Given the description of an element on the screen output the (x, y) to click on. 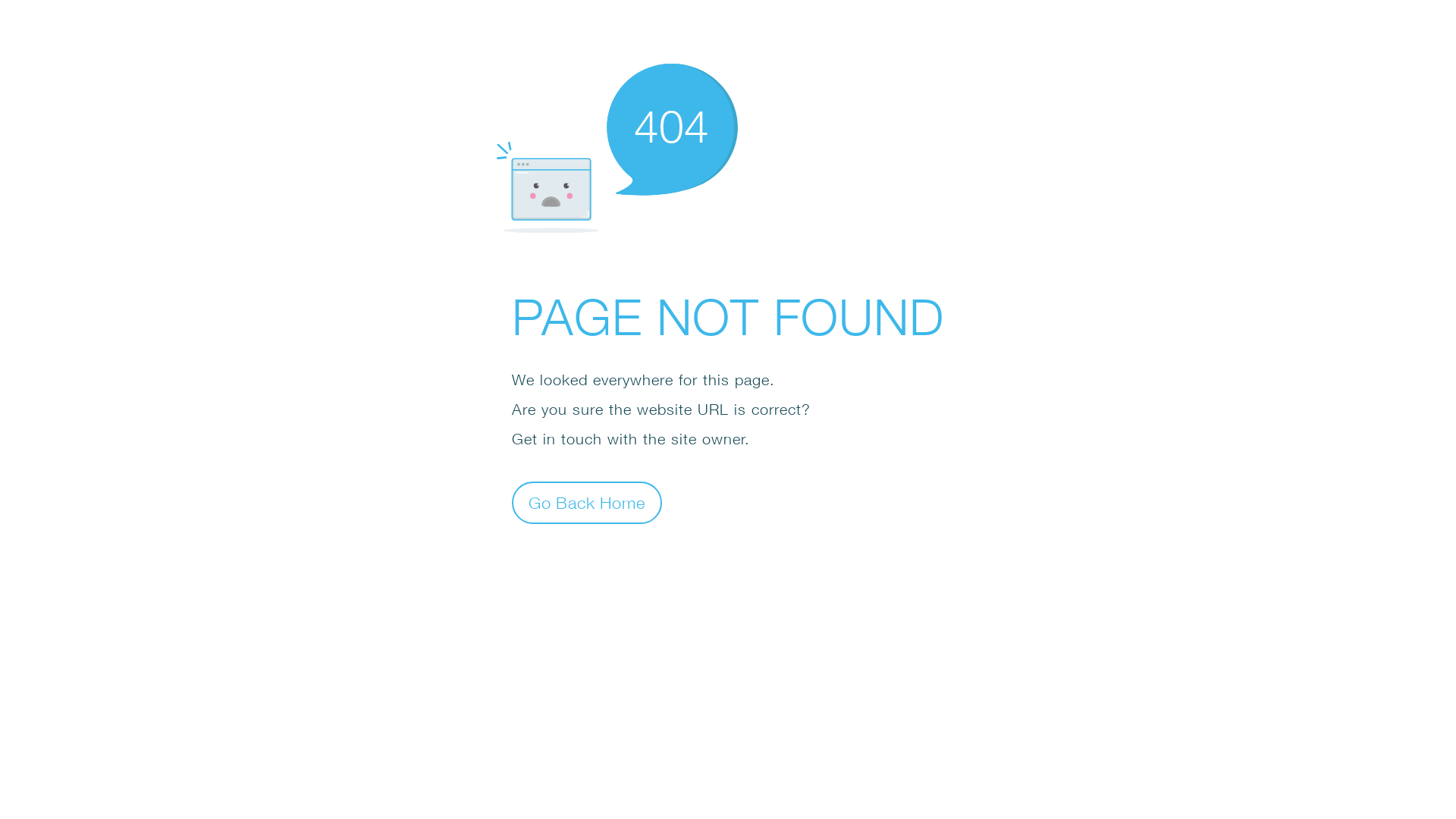
Go Back Home Element type: text (586, 502)
